Given the description of an element on the screen output the (x, y) to click on. 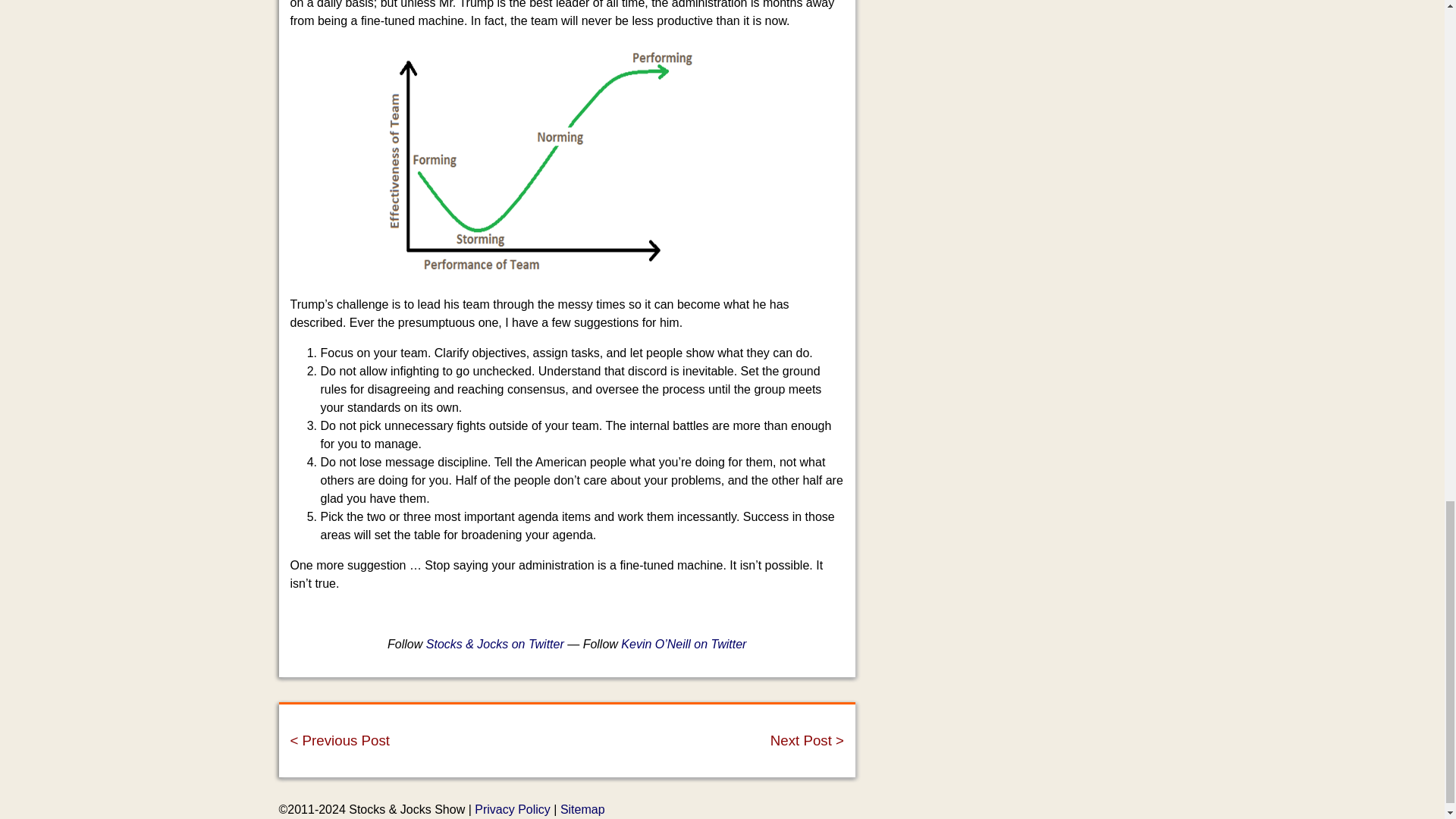
Sitemap (582, 809)
Privacy Policy (512, 809)
